Given the description of an element on the screen output the (x, y) to click on. 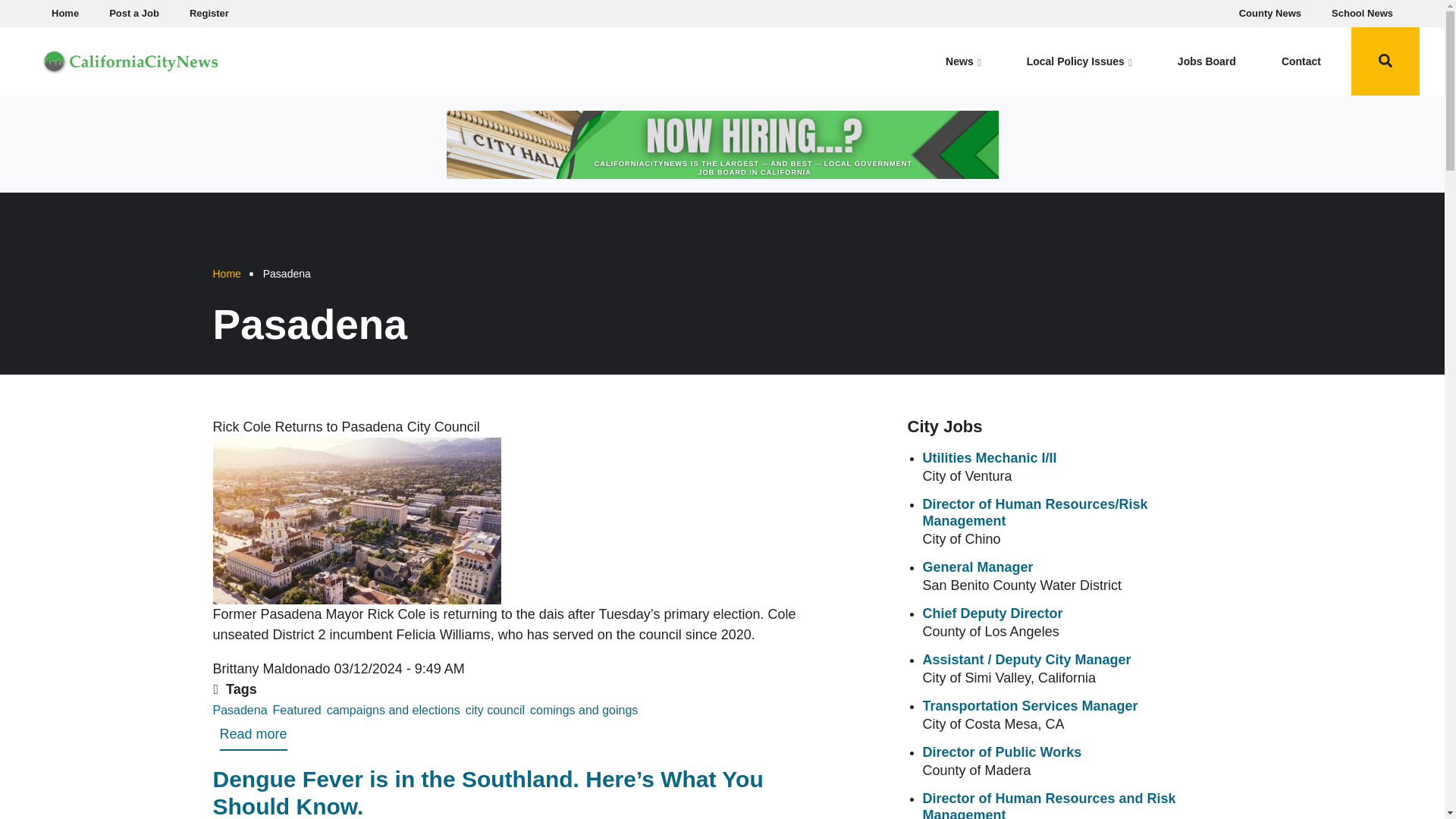
Jobs Board (1206, 61)
Post a Job (134, 13)
campaigns and elections (393, 710)
city council (252, 737)
Home (494, 710)
School News (130, 59)
Skip to main content (1361, 13)
Home (583, 710)
Register (64, 13)
Pasadena (208, 13)
Home (239, 710)
County News (226, 273)
Rick Cole Returns to Pasadena City Council (1269, 13)
